Given the description of an element on the screen output the (x, y) to click on. 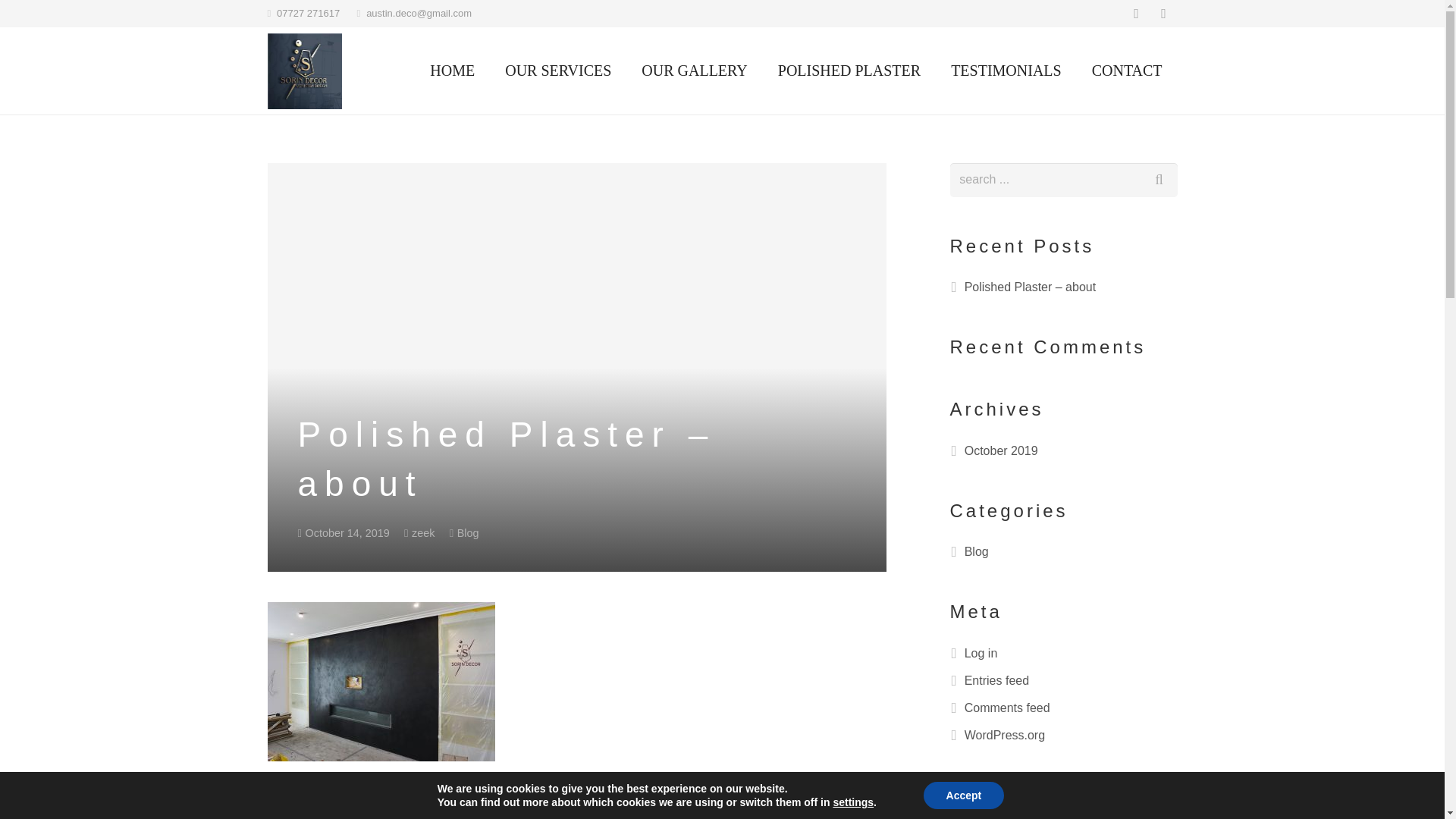
CONTACT (1127, 70)
TESTIMONIALS (1006, 70)
Blog (468, 532)
Blog (975, 551)
October 2019 (1000, 450)
Log in (980, 653)
WordPress.org (1004, 735)
OUR GALLERY (693, 70)
Entries feed (996, 680)
Comments feed (1006, 707)
zeek (422, 532)
OUR SERVICES (557, 70)
POLISHED PLASTER (849, 70)
